Given the description of an element on the screen output the (x, y) to click on. 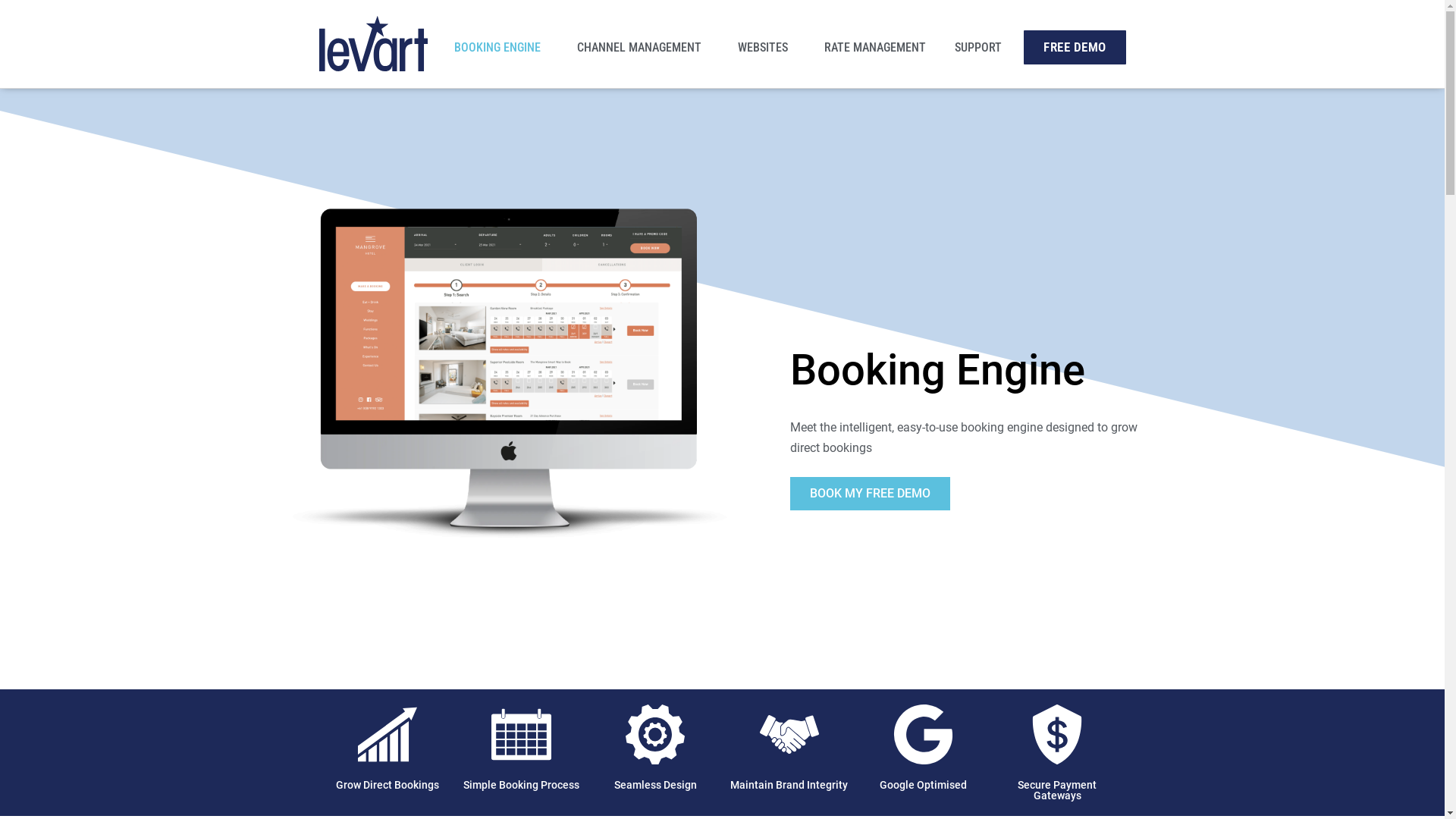
CHANNEL MANAGEMENT Element type: text (642, 46)
RATE MANAGEMENT Element type: text (874, 46)
FREE DEMO Element type: text (1074, 47)
WEBSITES Element type: text (766, 46)
BOOK MY FREE DEMO Element type: text (870, 493)
BOOKING ENGINE Element type: text (500, 46)
Skip to content Element type: text (11, 31)
SUPPORT Element type: text (981, 46)
